Given the description of an element on the screen output the (x, y) to click on. 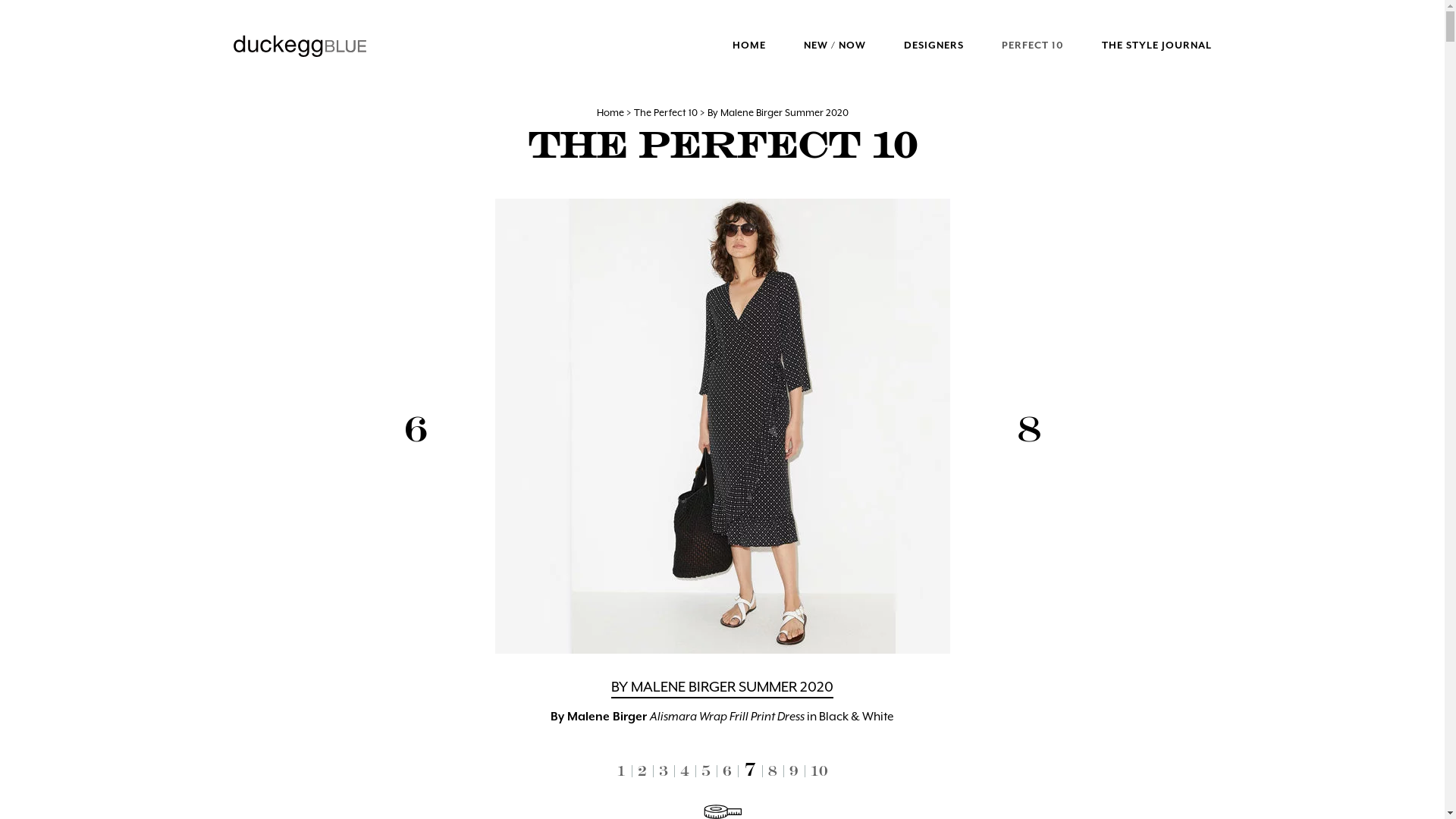
2 Element type: text (641, 770)
DESIGNERS Element type: text (933, 44)
NEW / NOW Element type: text (834, 44)
8 Element type: text (771, 770)
The Perfect 10 Element type: text (665, 112)
Home Element type: text (609, 112)
4 Element type: text (683, 770)
1 Element type: text (621, 770)
7 Element type: text (750, 770)
3 Element type: text (662, 770)
6 Element type: text (729, 770)
PERFECT 10 Element type: text (1032, 44)
10 Element type: text (818, 770)
9 Element type: text (792, 770)
5 Element type: text (706, 768)
HOME Element type: text (748, 44)
duckeggBLUE Element type: hover (299, 45)
THE STYLE JOURNAL Element type: text (1156, 44)
